Given the description of an element on the screen output the (x, y) to click on. 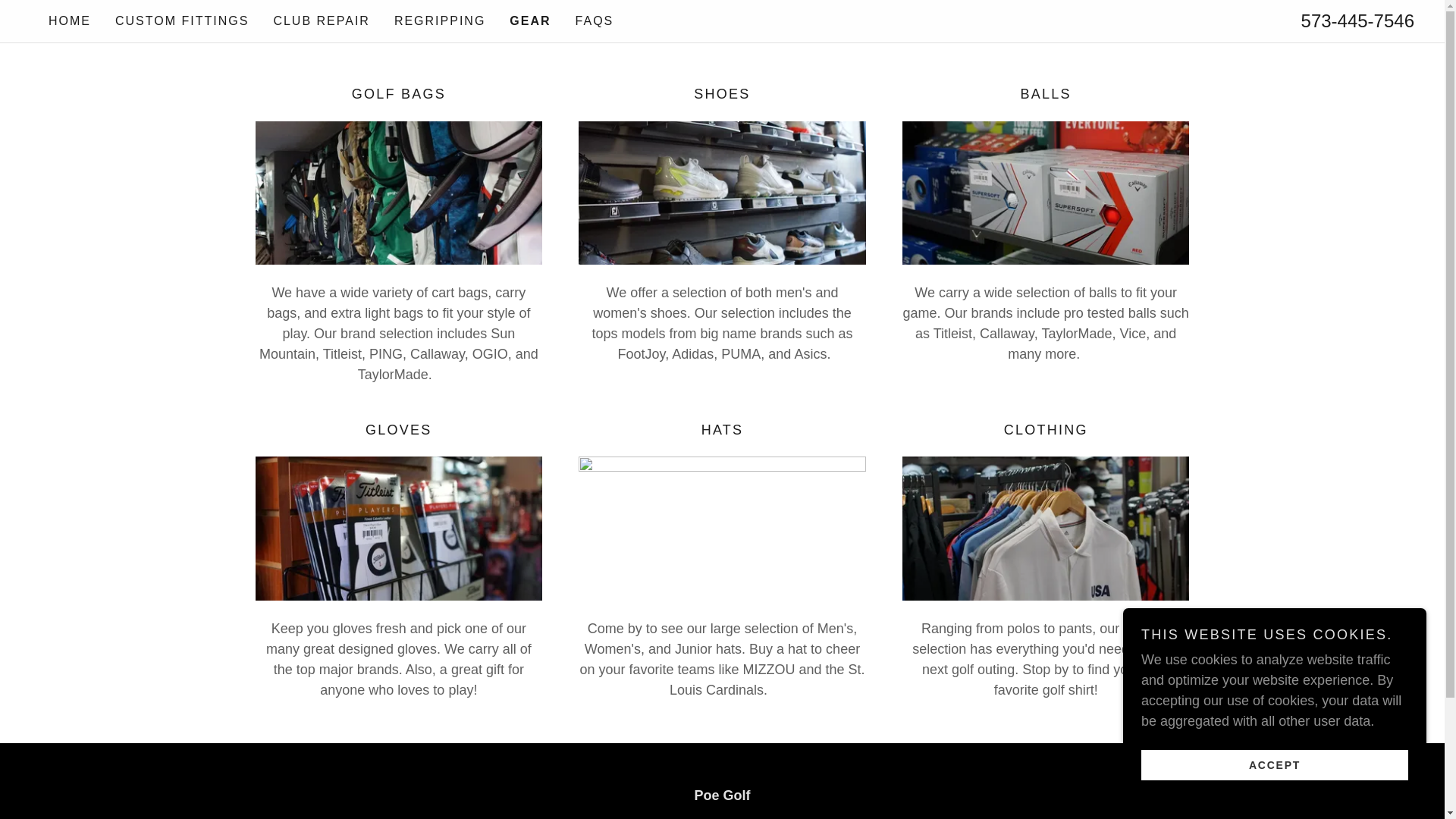
573-445-7546 (1357, 20)
CUSTOM FITTINGS (181, 21)
REGRIPPING (439, 21)
ACCEPT (1274, 764)
HOME (69, 21)
FAQS (594, 21)
CLUB REPAIR (320, 21)
GEAR (529, 21)
